Given the description of an element on the screen output the (x, y) to click on. 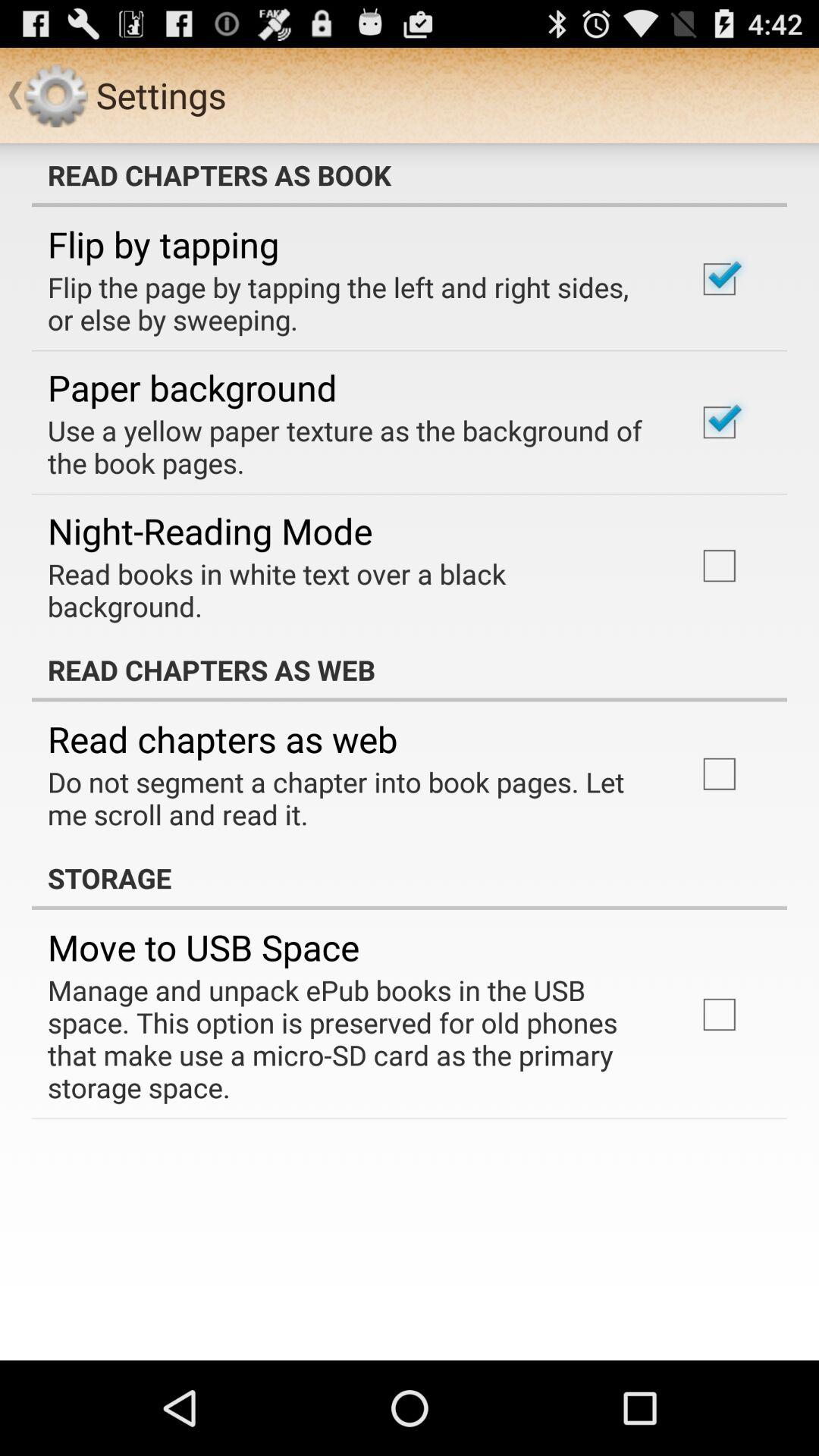
select manage and unpack at the bottom (351, 1038)
